Given the description of an element on the screen output the (x, y) to click on. 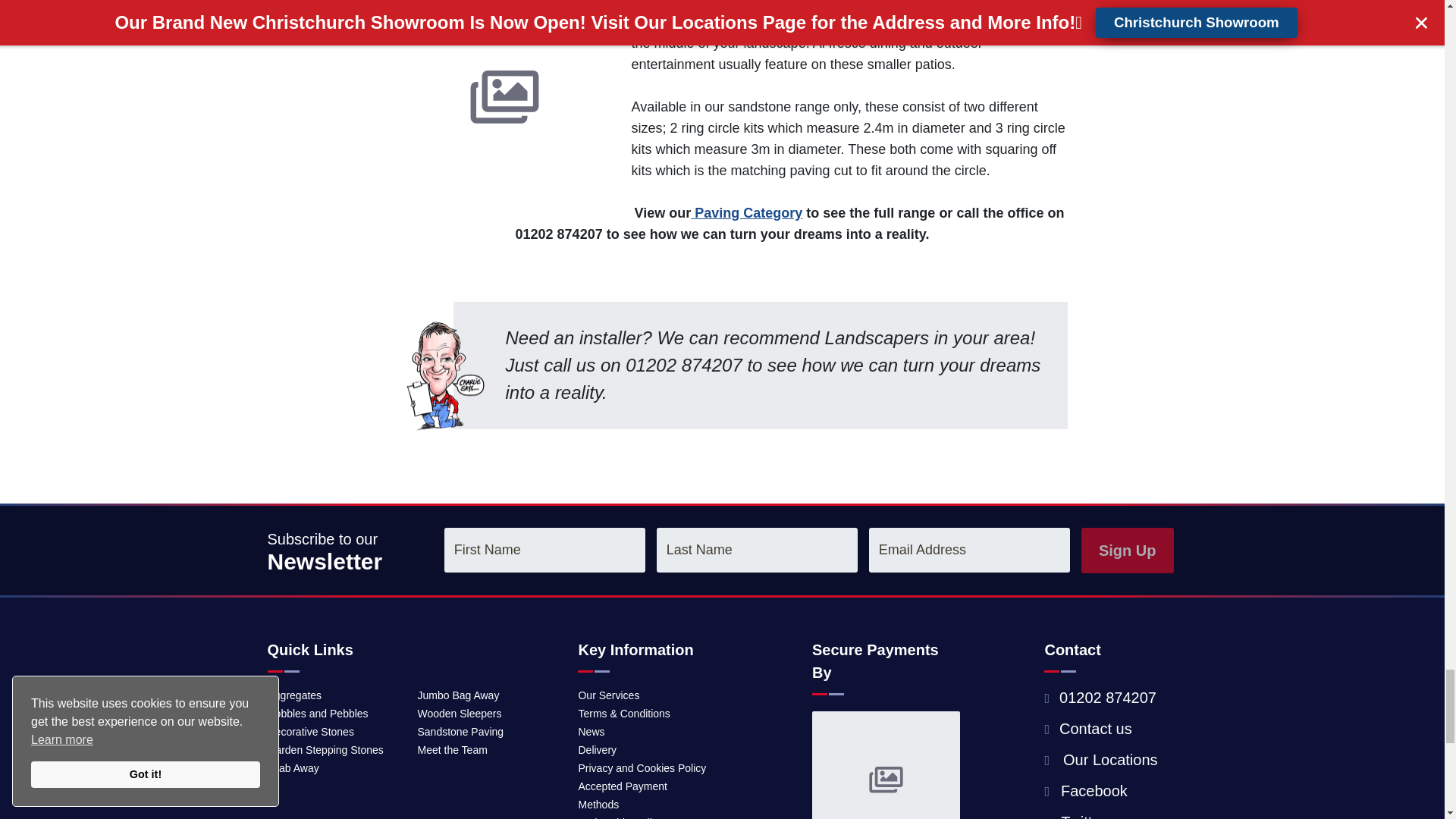
Sign Up (1127, 550)
PayPal (886, 778)
